Given the description of an element on the screen output the (x, y) to click on. 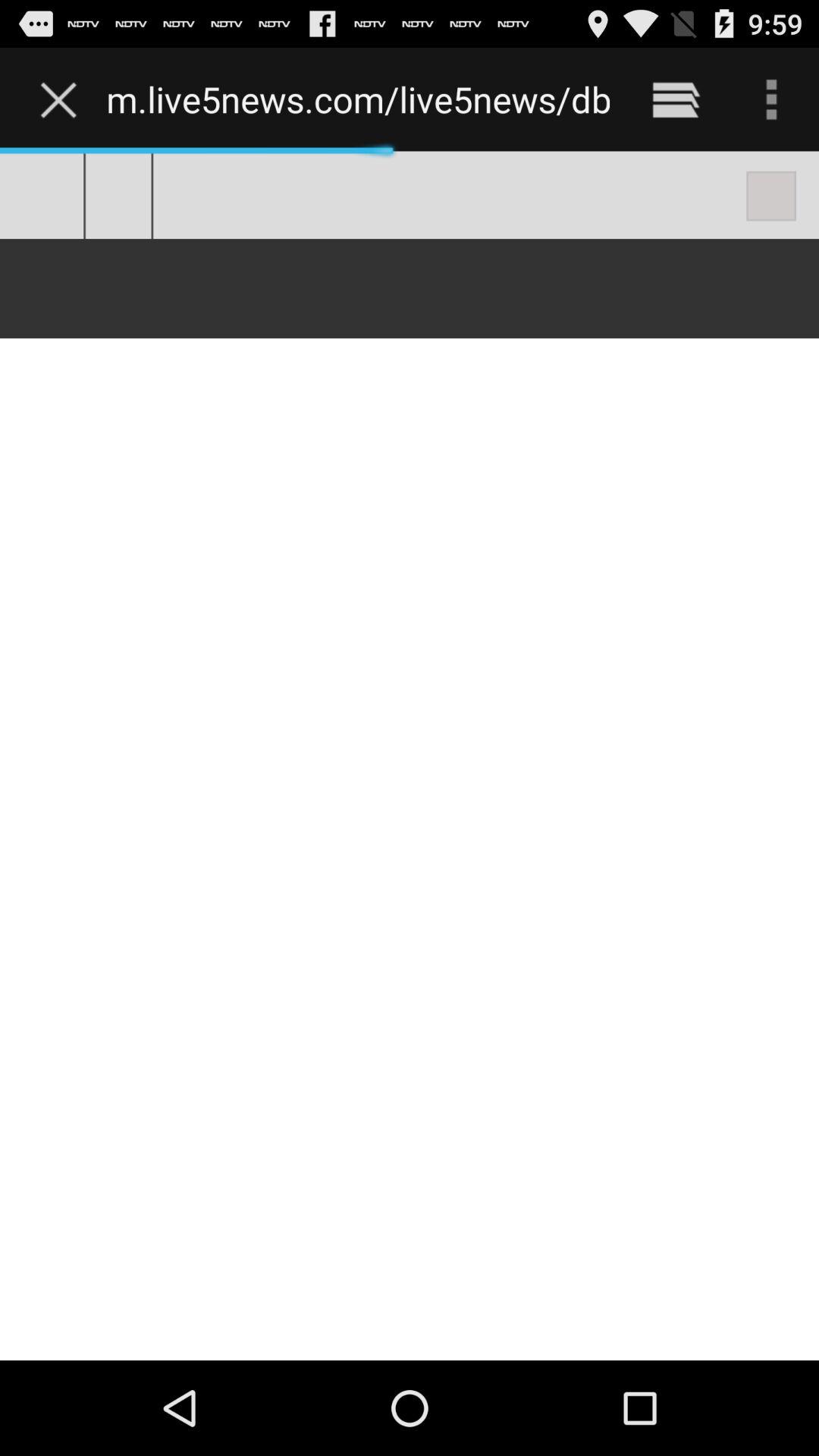
tap the icon at the center (409, 755)
